Given the description of an element on the screen output the (x, y) to click on. 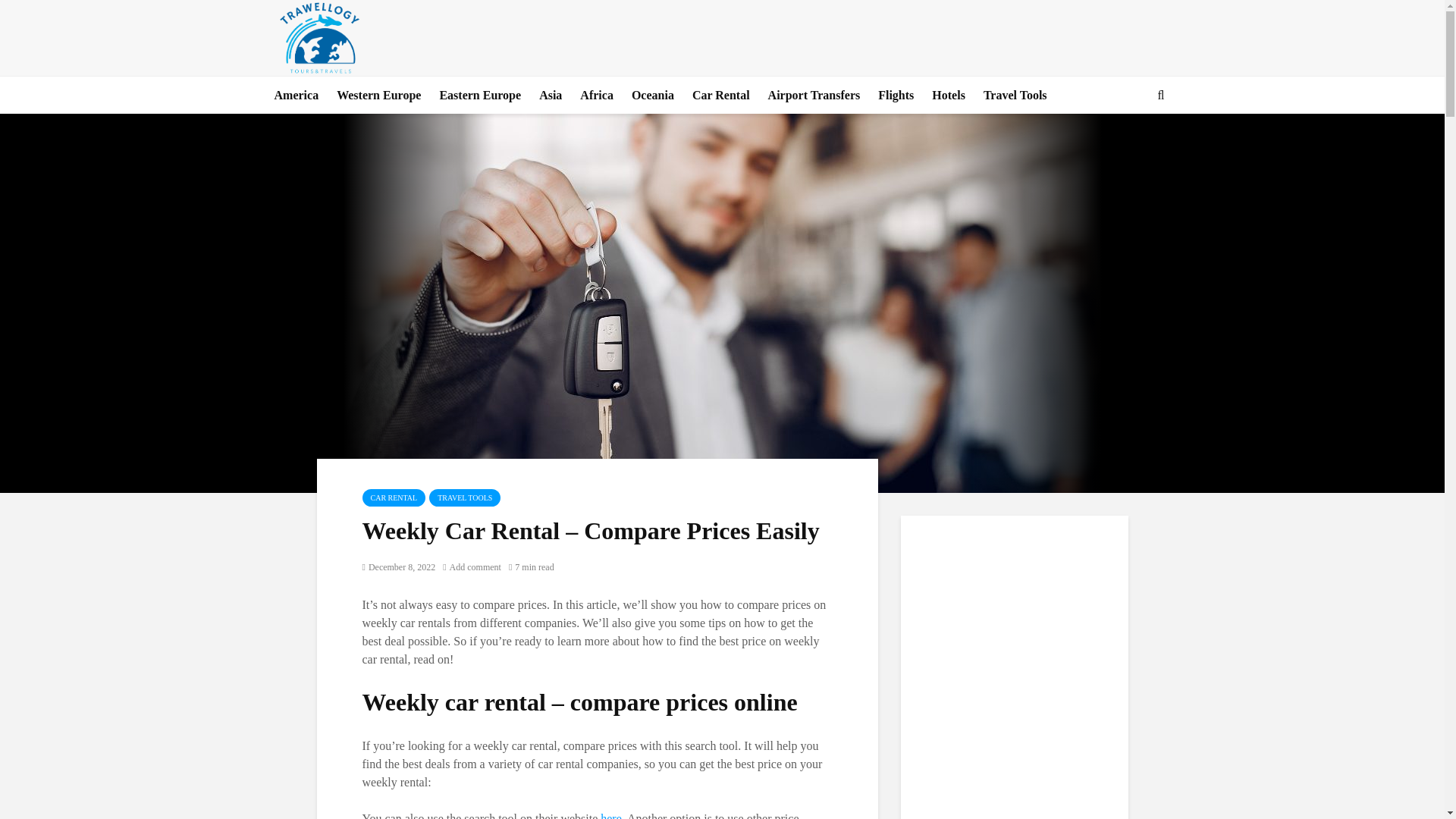
Eastern Europe (479, 95)
Western Europe (378, 95)
Advertisement (988, 34)
Eastern Europe (479, 95)
Western Europe (378, 95)
America (296, 95)
America (296, 95)
